Given the description of an element on the screen output the (x, y) to click on. 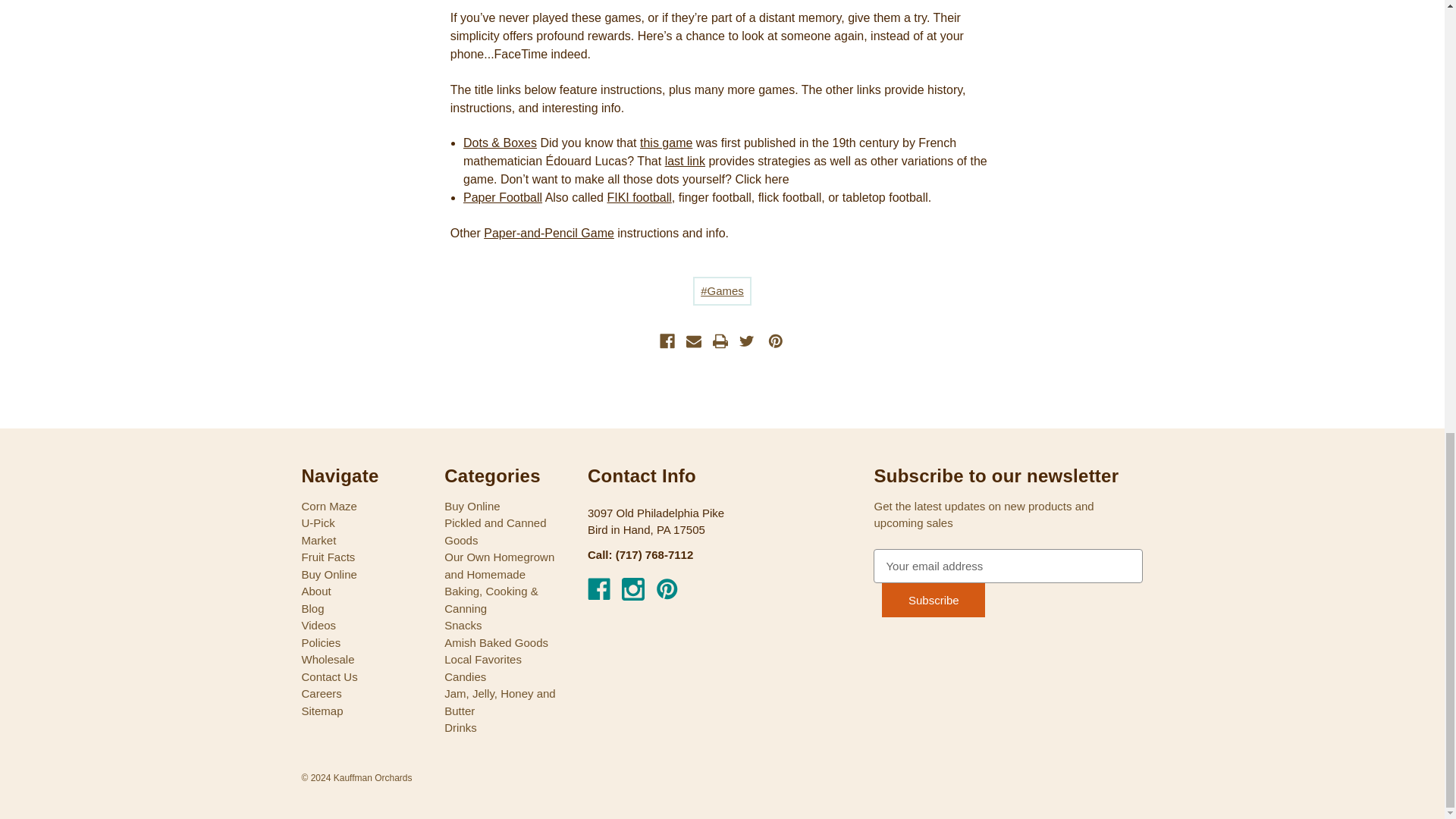
Subscribe (933, 600)
